Given the description of an element on the screen output the (x, y) to click on. 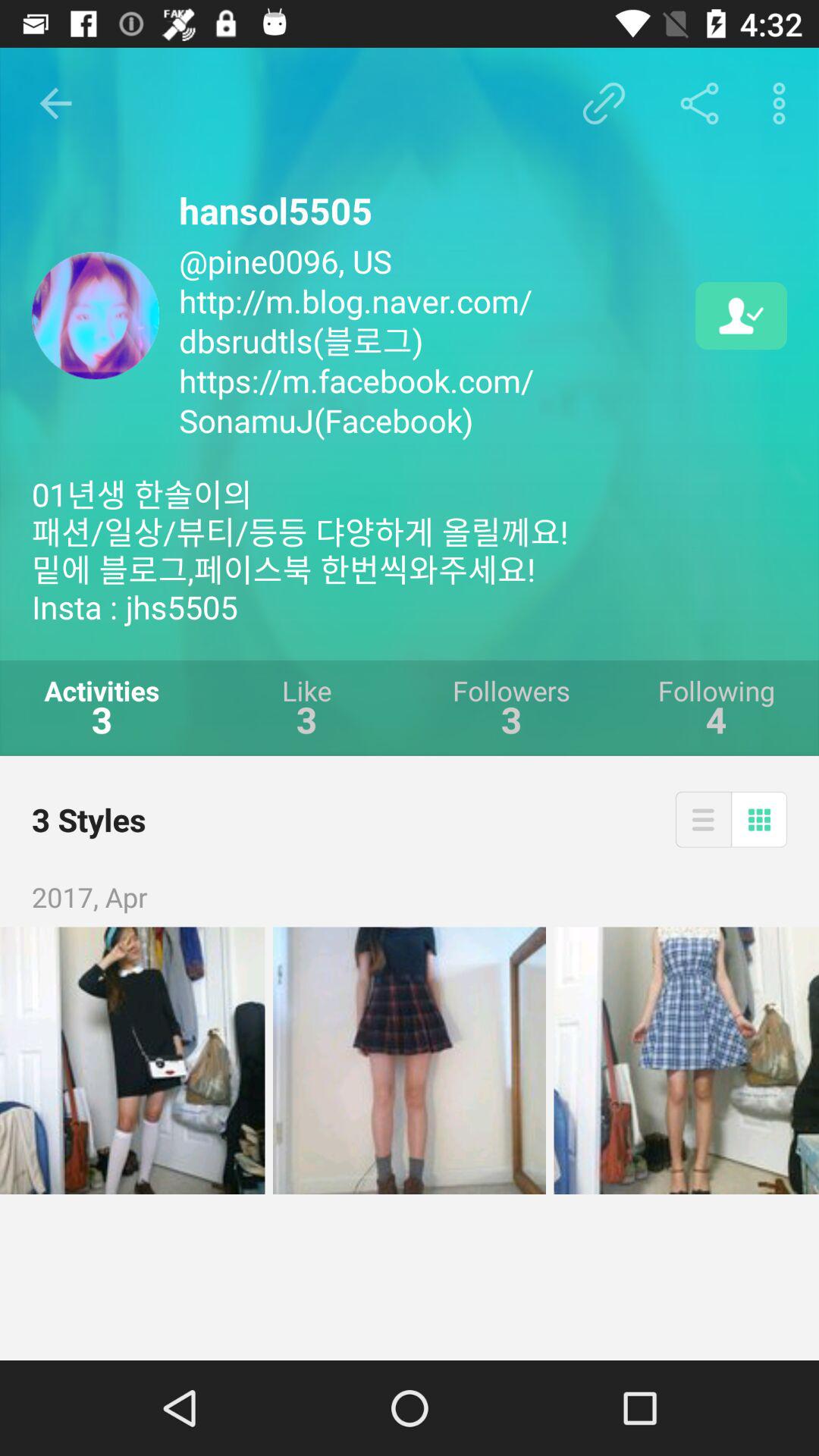
advertisement friend (741, 315)
